Given the description of an element on the screen output the (x, y) to click on. 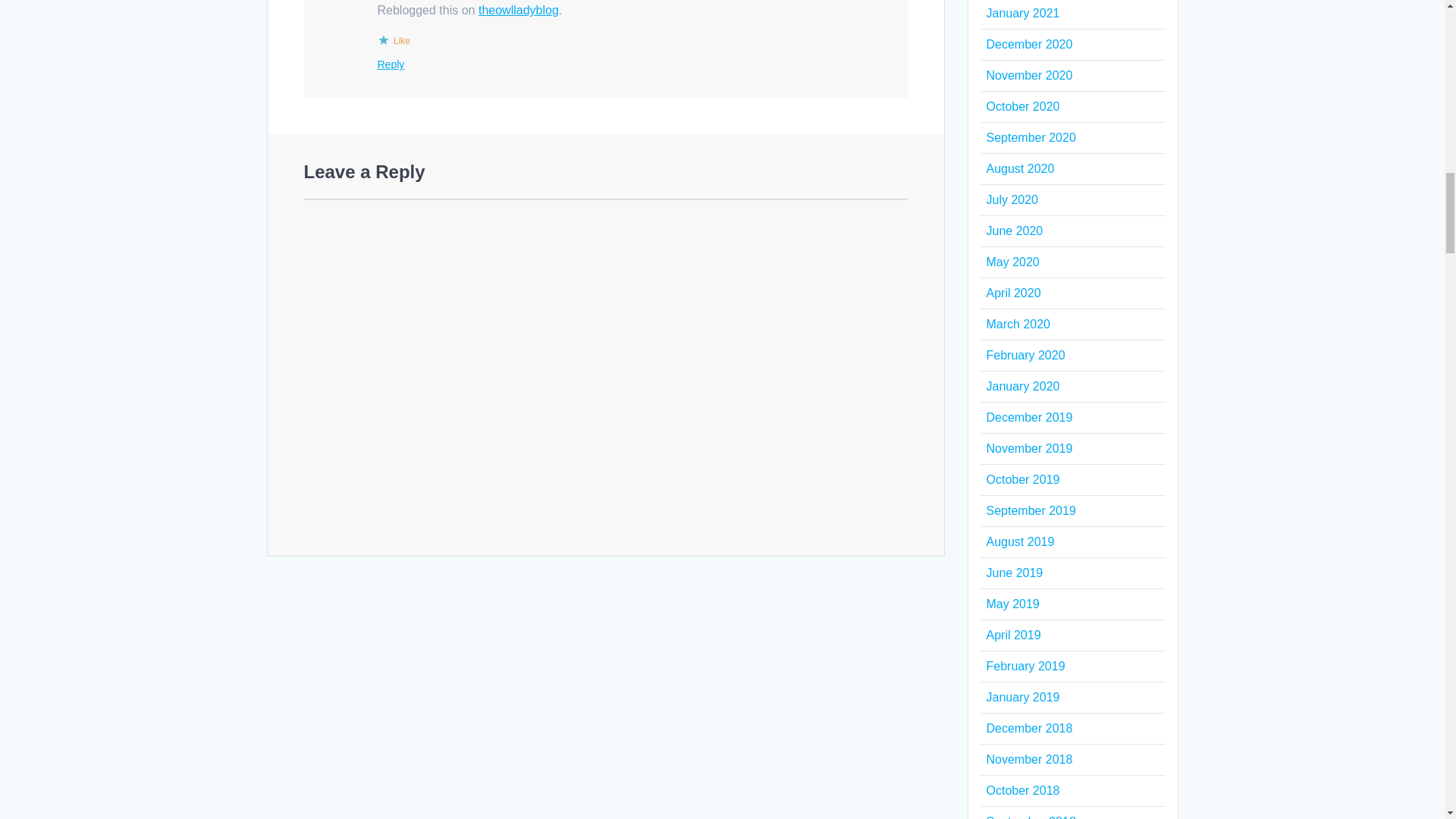
theowlladyblog (519, 10)
Reply (390, 64)
